Given the description of an element on the screen output the (x, y) to click on. 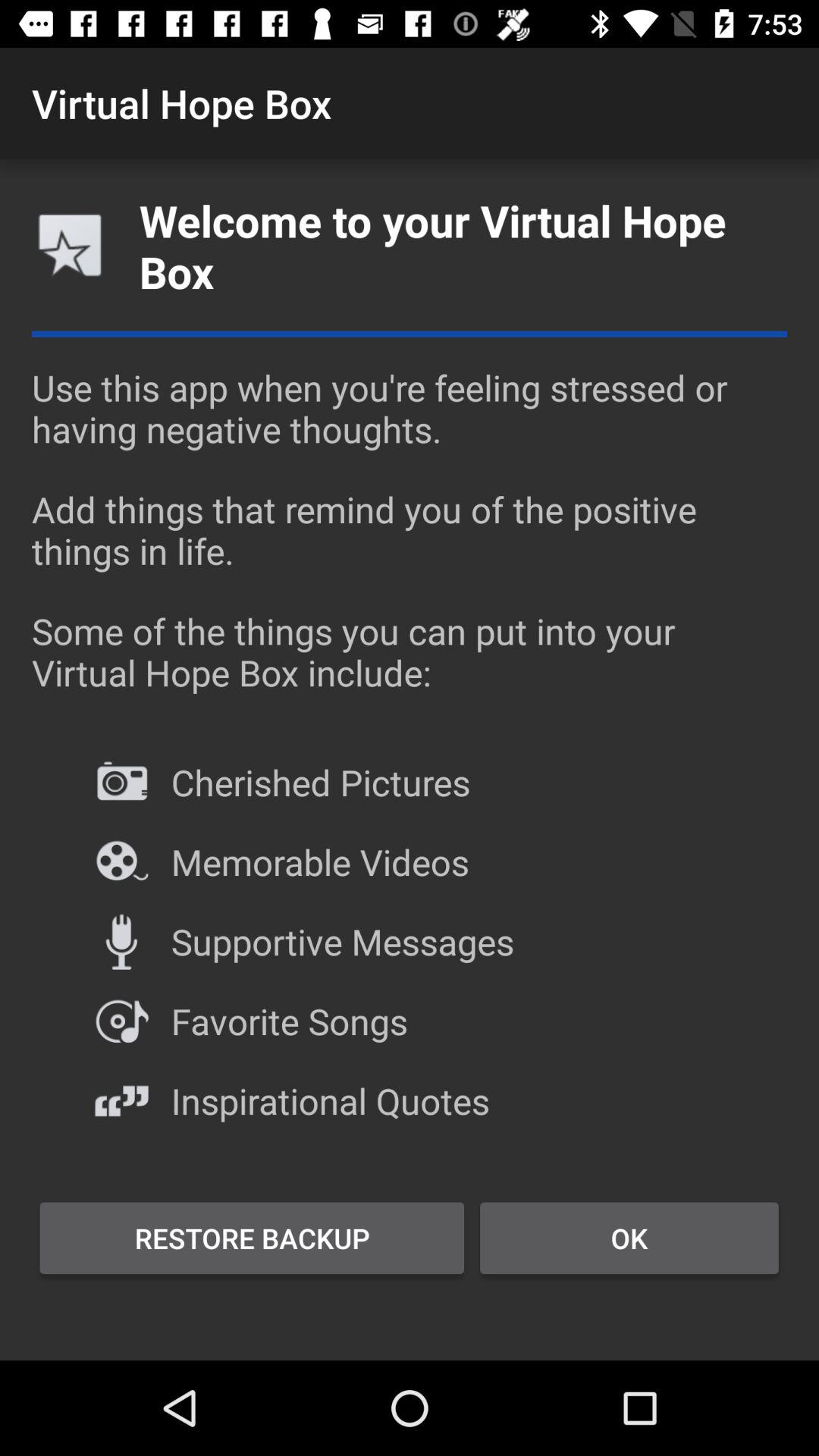
choose the restore backup (251, 1237)
